Given the description of an element on the screen output the (x, y) to click on. 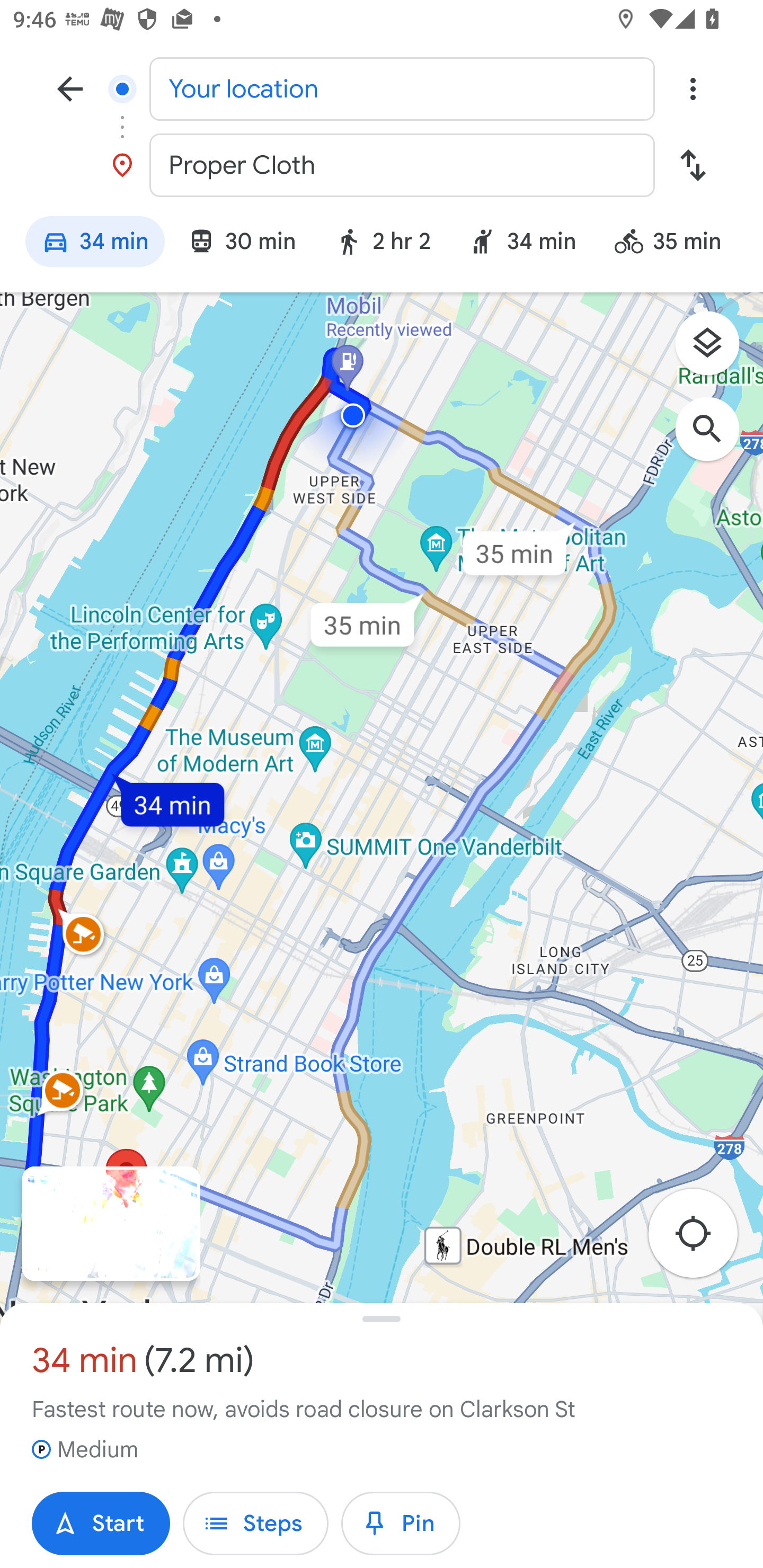
Navigate up (70, 88)
Your location Start location, Your location (381, 88)
Overflow menu (692, 88)
Proper Cloth Destination, Proper Cloth (381, 165)
Swap start and destination (692, 165)
Transit mode: 30 min 30 min (241, 244)
Walking mode: 2 hr 2 2 hr 2 (382, 244)
Ride service: 34 min 34 min (522, 244)
Bicycling mode: 35 min 35 min (675, 244)
Layers (716, 349)
Search along route (716, 438)
Open Immersive View for routes (110, 1223)
Re-center map to your location (702, 1238)
Steps Steps Steps (255, 1522)
Pin trip Pin Pin trip (400, 1522)
